Given the description of an element on the screen output the (x, y) to click on. 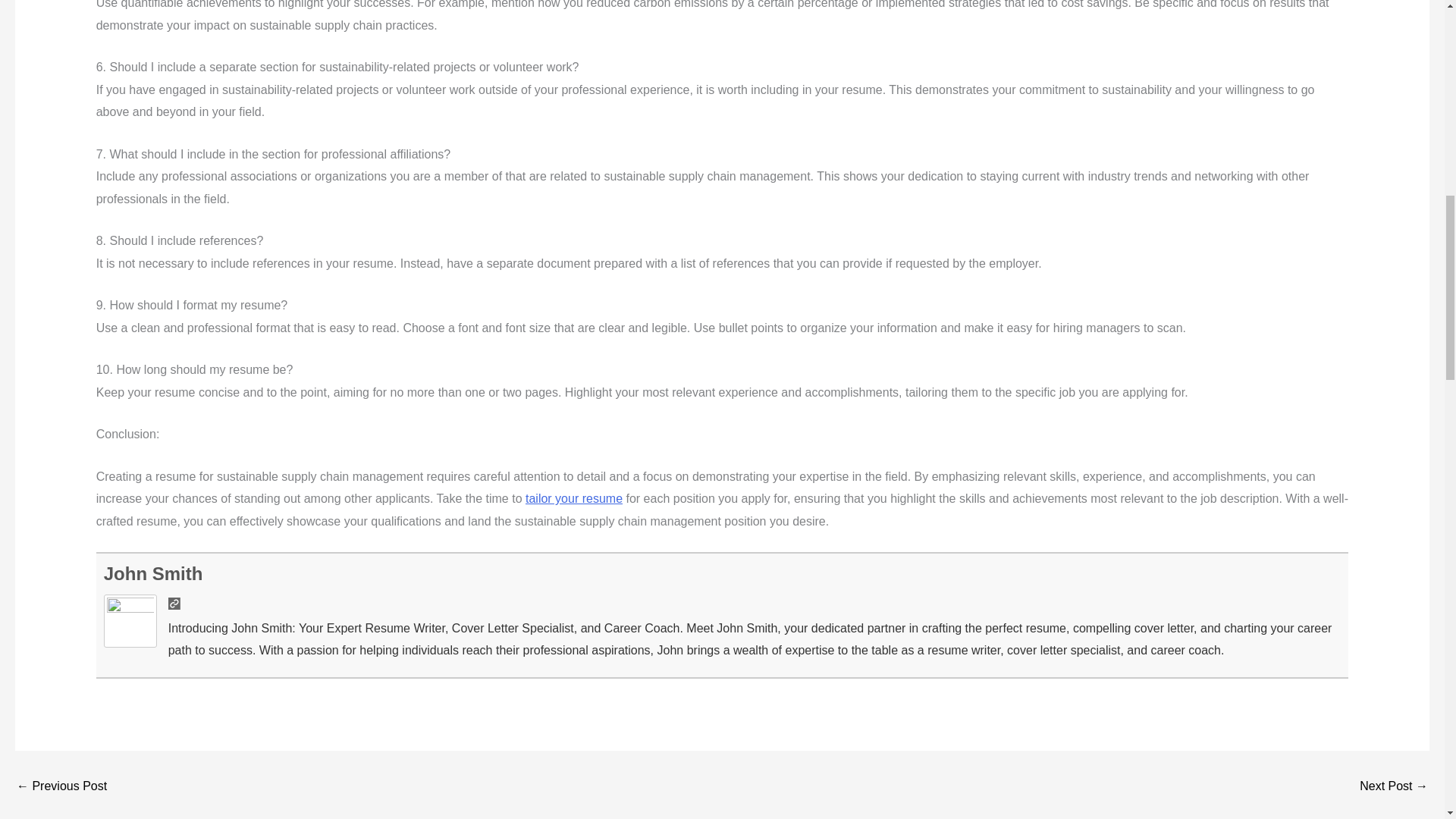
Resume Writing for Event Technology and AV Management (1393, 786)
All posts by John Smith (153, 573)
